Given the description of an element on the screen output the (x, y) to click on. 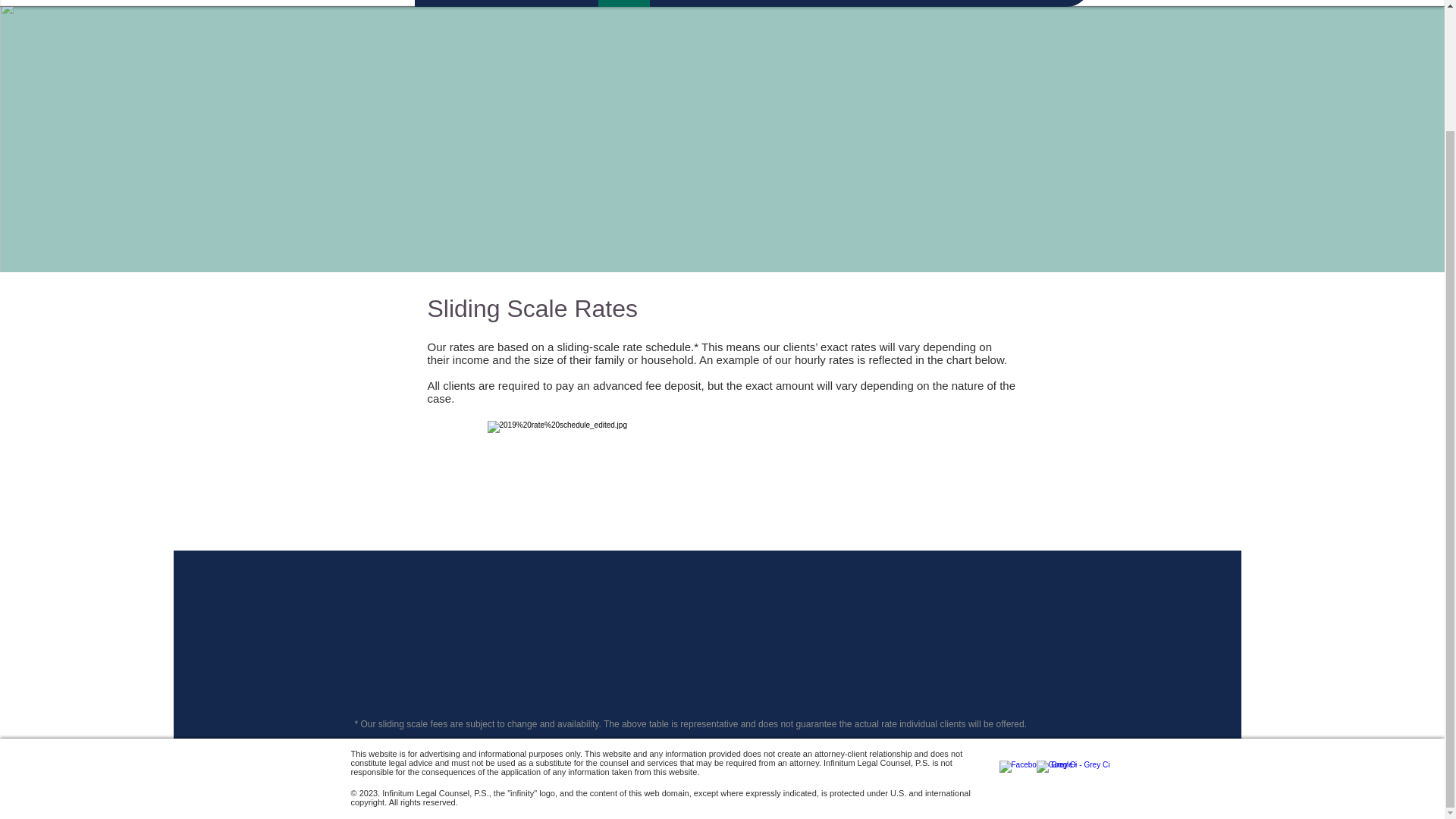
FAMILY DEFENSE ALLIANCE (1009, 3)
RESOURCES (803, 3)
CLIENT PAYMENTS (705, 3)
ABOUT (622, 3)
HOME (446, 3)
CONTACT US (887, 3)
